Given the description of an element on the screen output the (x, y) to click on. 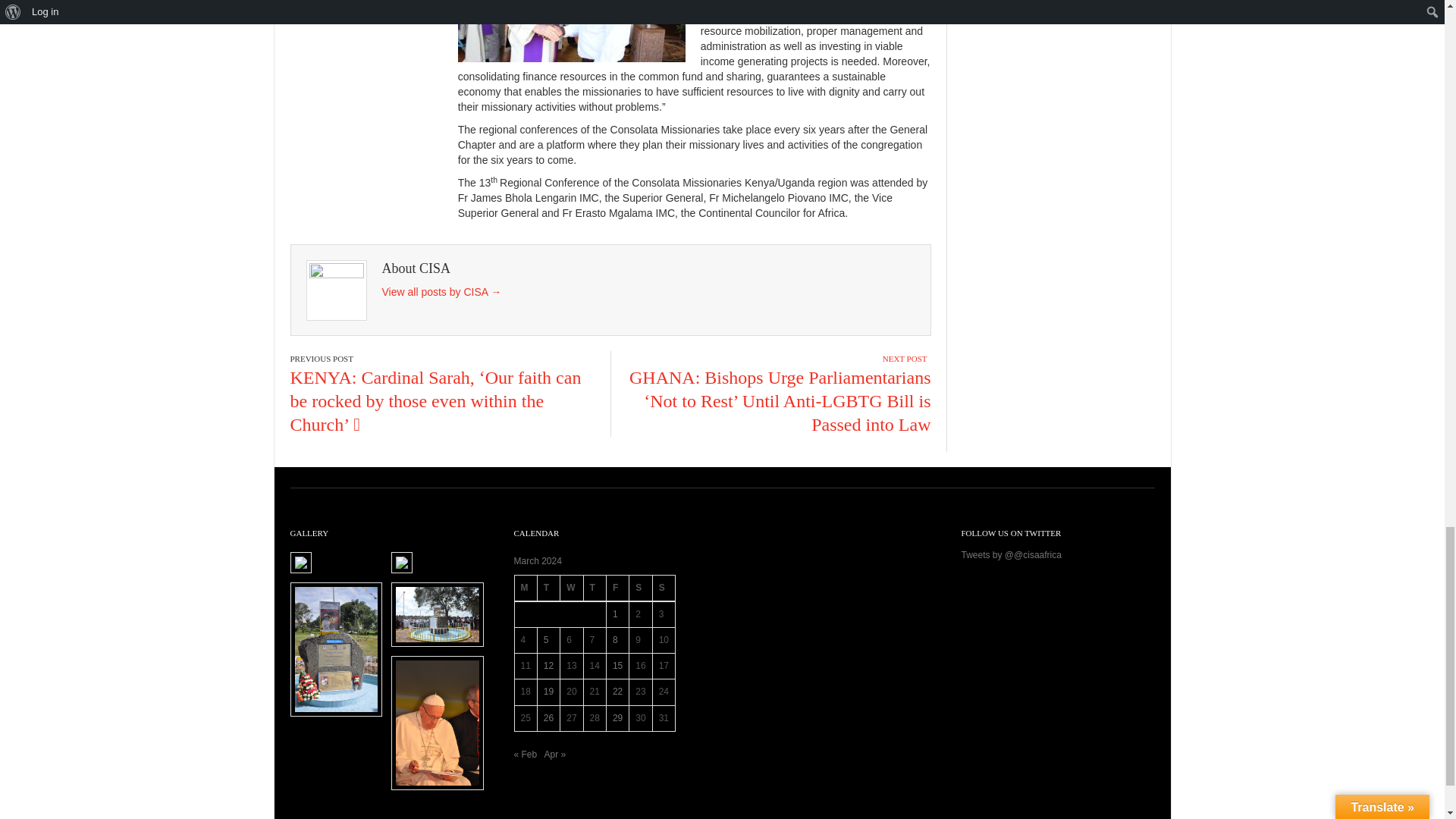
Saturday (640, 587)
Wednesday (571, 587)
Thursday (594, 587)
Tuesday (548, 587)
Sunday (663, 587)
Friday (616, 587)
Monday (525, 587)
